Given the description of an element on the screen output the (x, y) to click on. 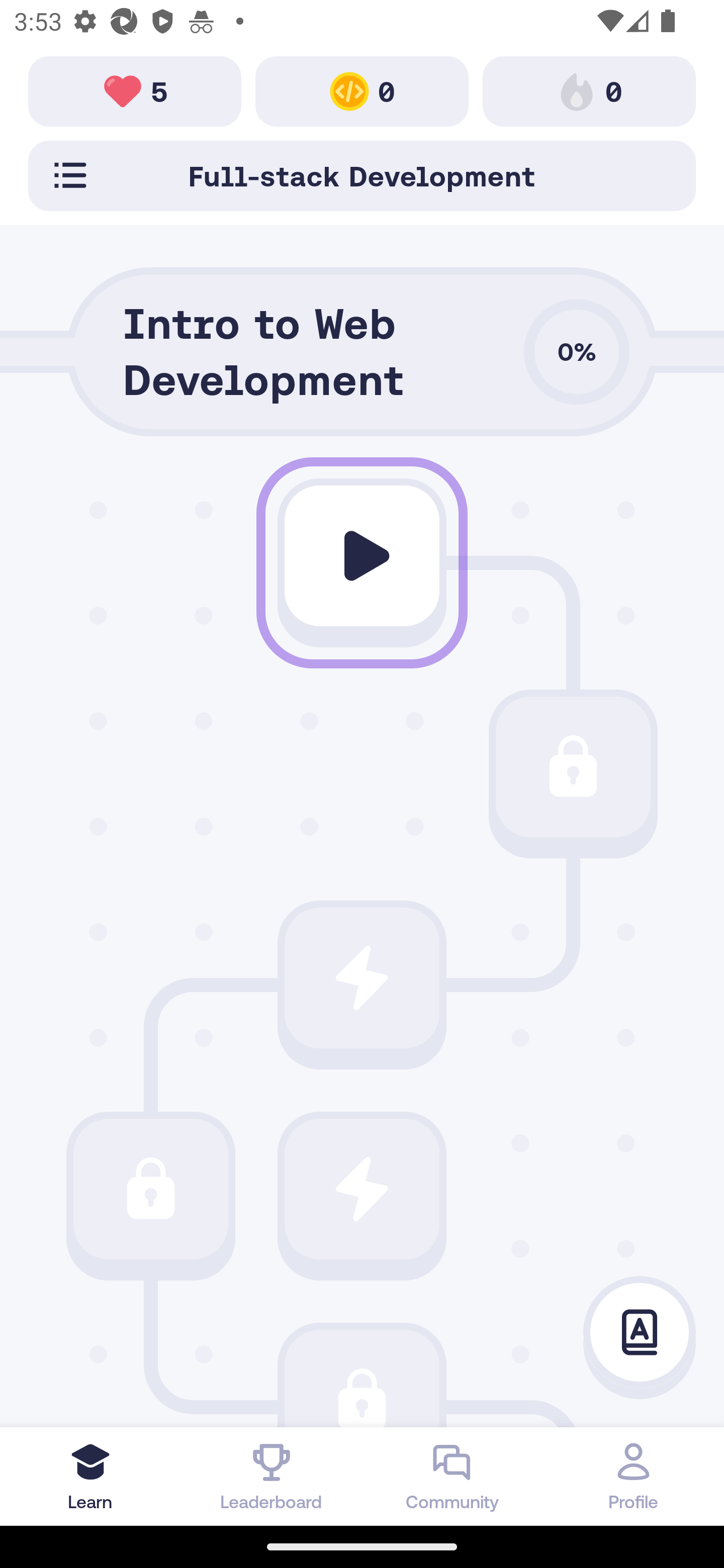
Path Toolbar Image 5 (134, 90)
Path Toolbar Image 0 (361, 90)
Path Toolbar Image 0 (588, 90)
Path Toolbar Selector Full-stack Development (361, 175)
Path Icon (361, 555)
Glossary Icon (639, 1332)
Leaderboard (271, 1475)
Community (452, 1475)
Profile (633, 1475)
